Given the description of an element on the screen output the (x, y) to click on. 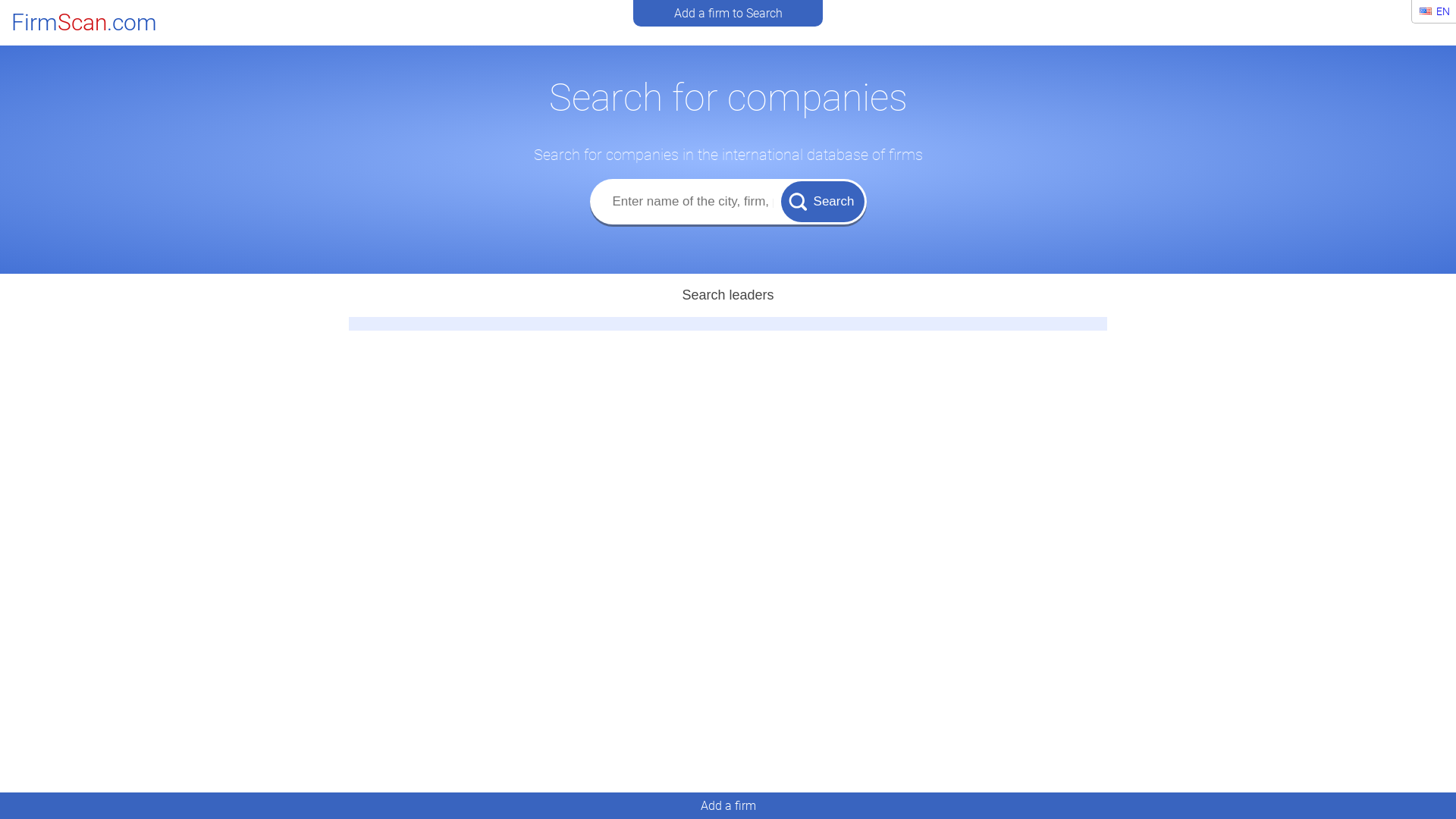
EN Element type: text (1434, 11)
Search Element type: text (822, 200)
